Given the description of an element on the screen output the (x, y) to click on. 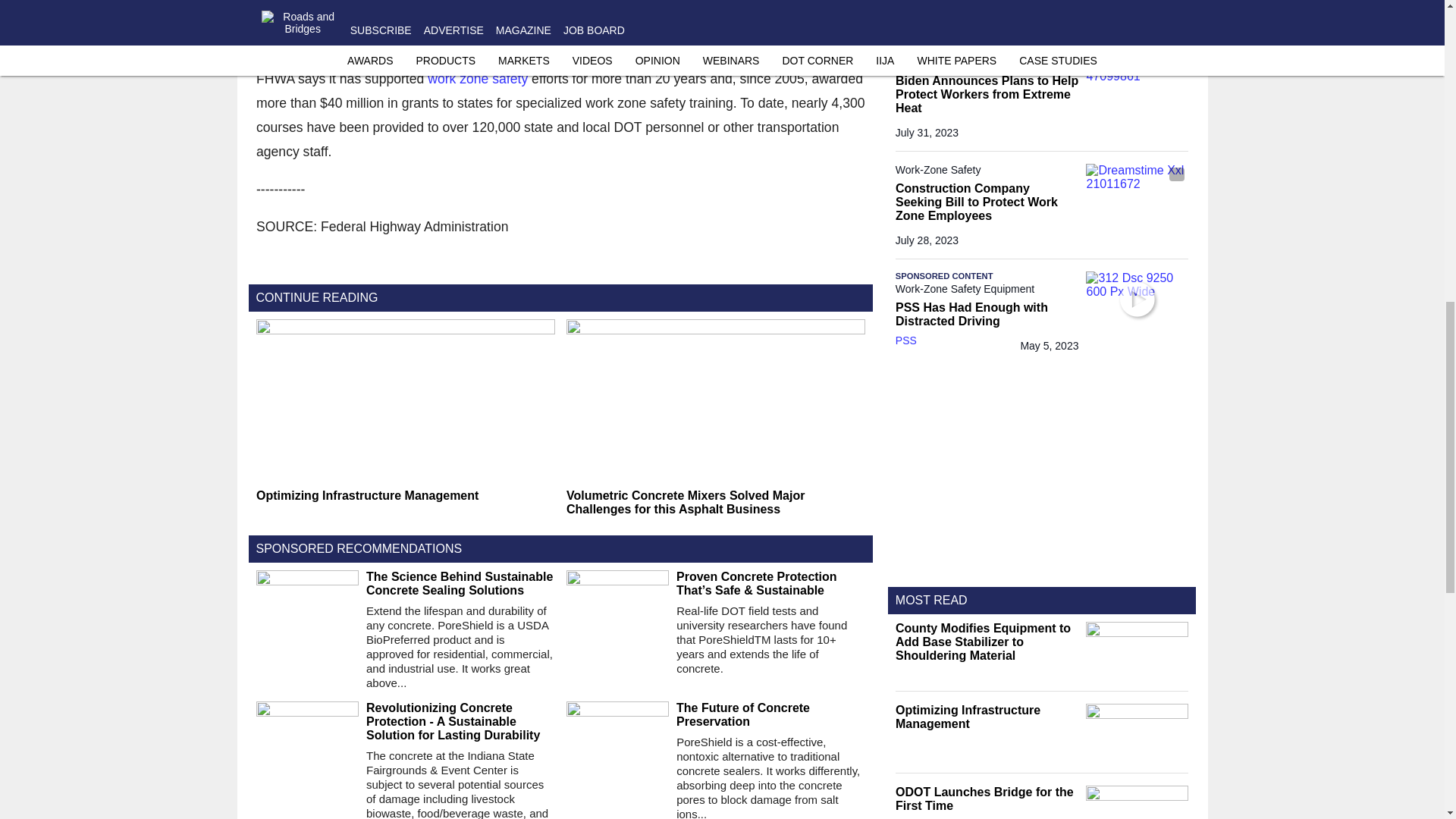
Dreamstime Xxl 21011672 (1137, 191)
The Science Behind Sustainable Concrete Sealing Solutions (459, 583)
Dreamstime Xxl 47099861 (1137, 84)
The Future of Concrete Preservation (770, 714)
Optimizing Infrastructure Management (405, 495)
work zone safety (477, 78)
312 Dsc 9250 600 Px Wide (1137, 299)
